Given the description of an element on the screen output the (x, y) to click on. 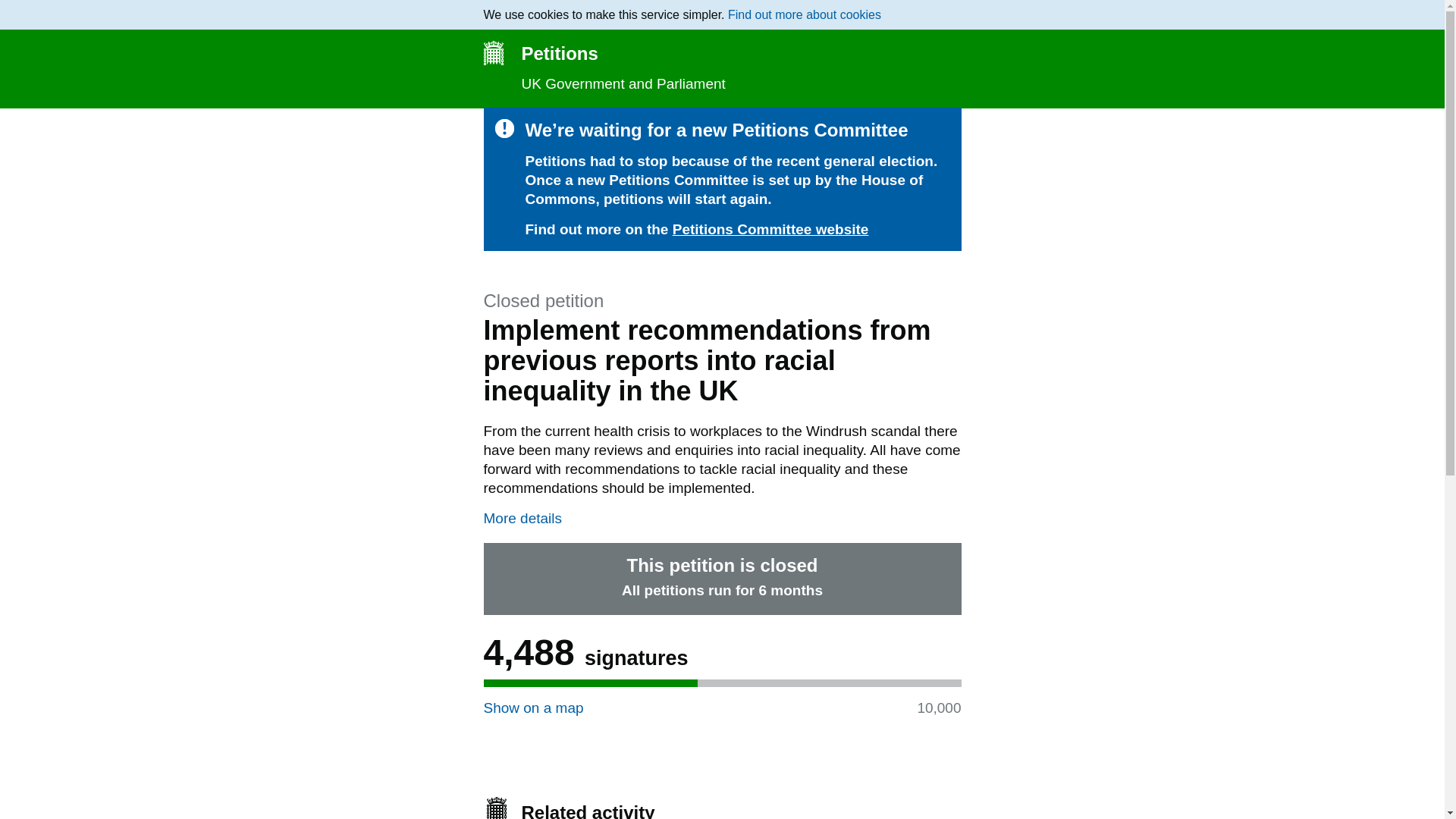
Find out more about cookies (804, 14)
Go to the petitions homepage (721, 53)
Petitions (721, 53)
Show on a map (533, 707)
Petitions Committee website (770, 229)
